Given the description of an element on the screen output the (x, y) to click on. 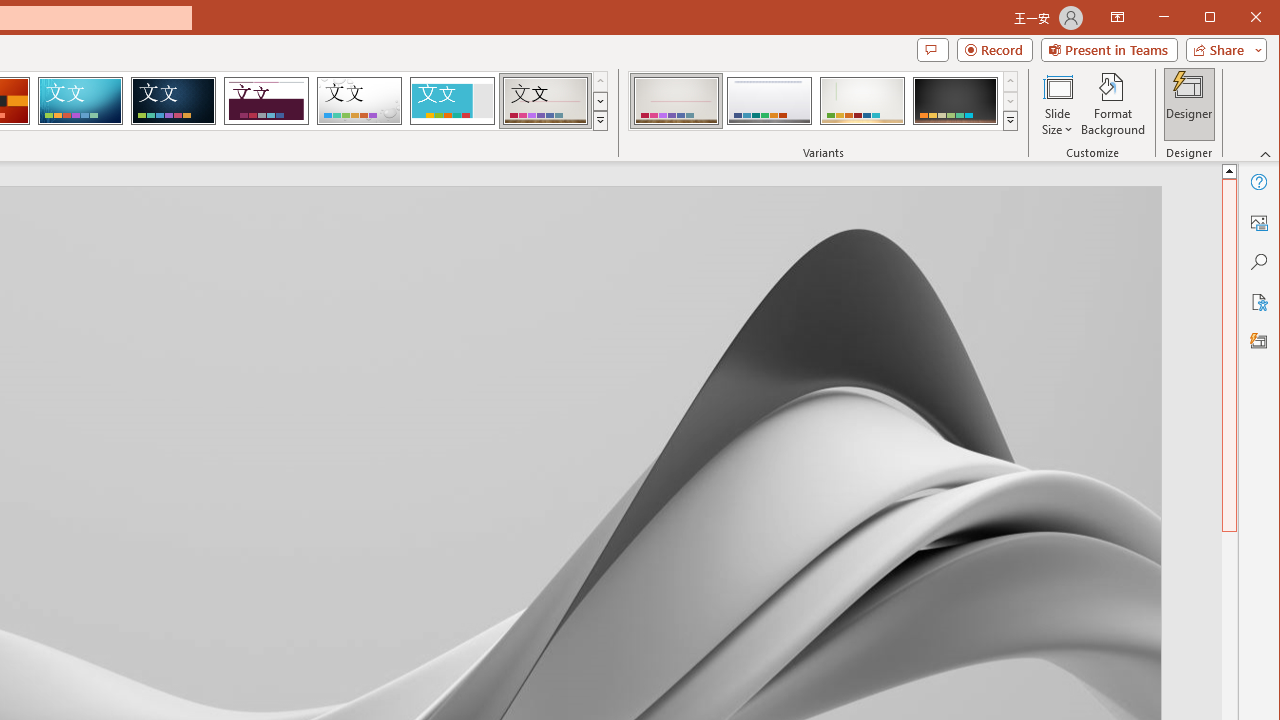
Dividend (266, 100)
Gallery Variant 4 (955, 100)
Gallery Variant 1 (676, 100)
